Given the description of an element on the screen output the (x, y) to click on. 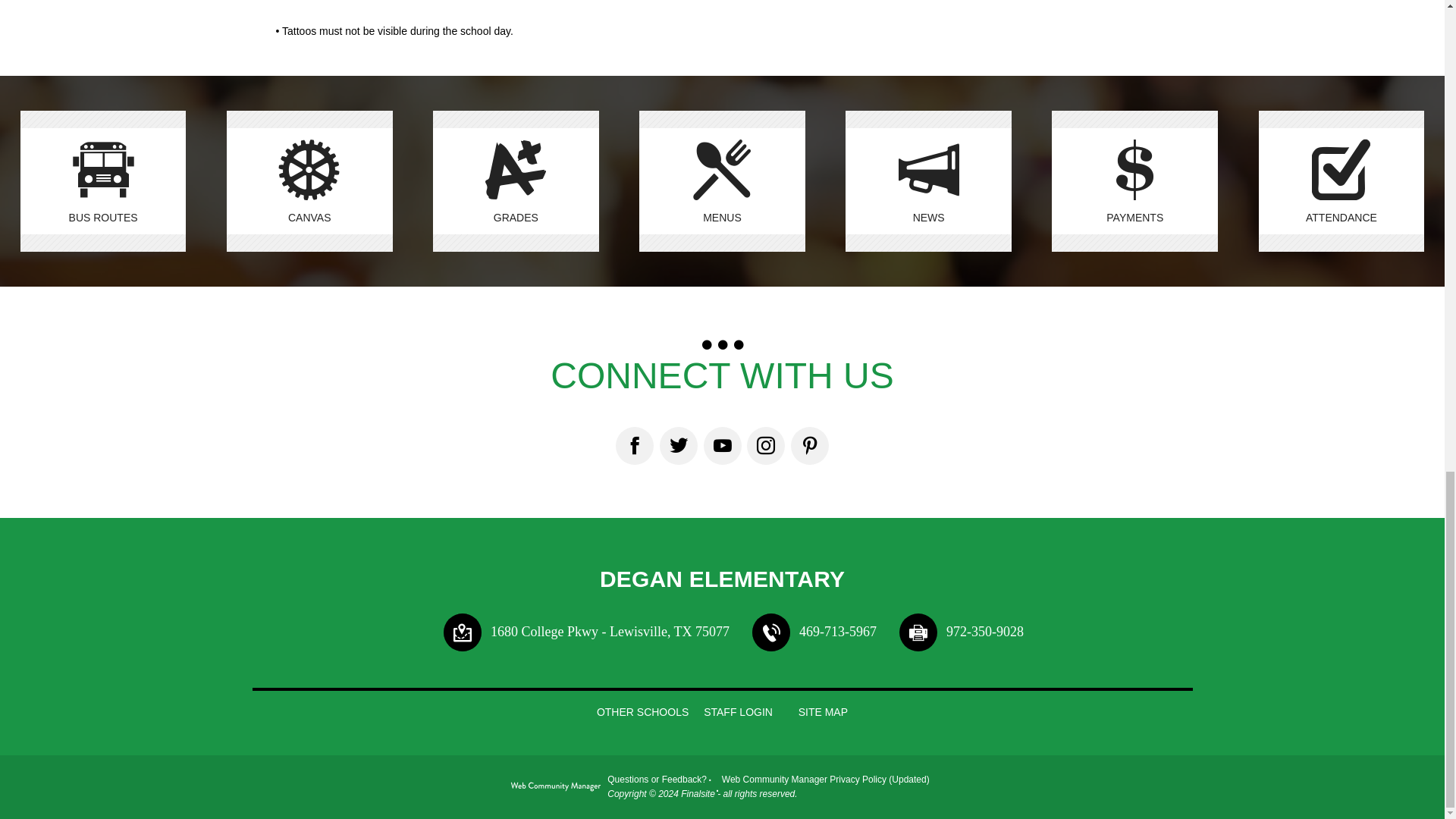
Finalsite - all rights reserved (556, 788)
